Given the description of an element on the screen output the (x, y) to click on. 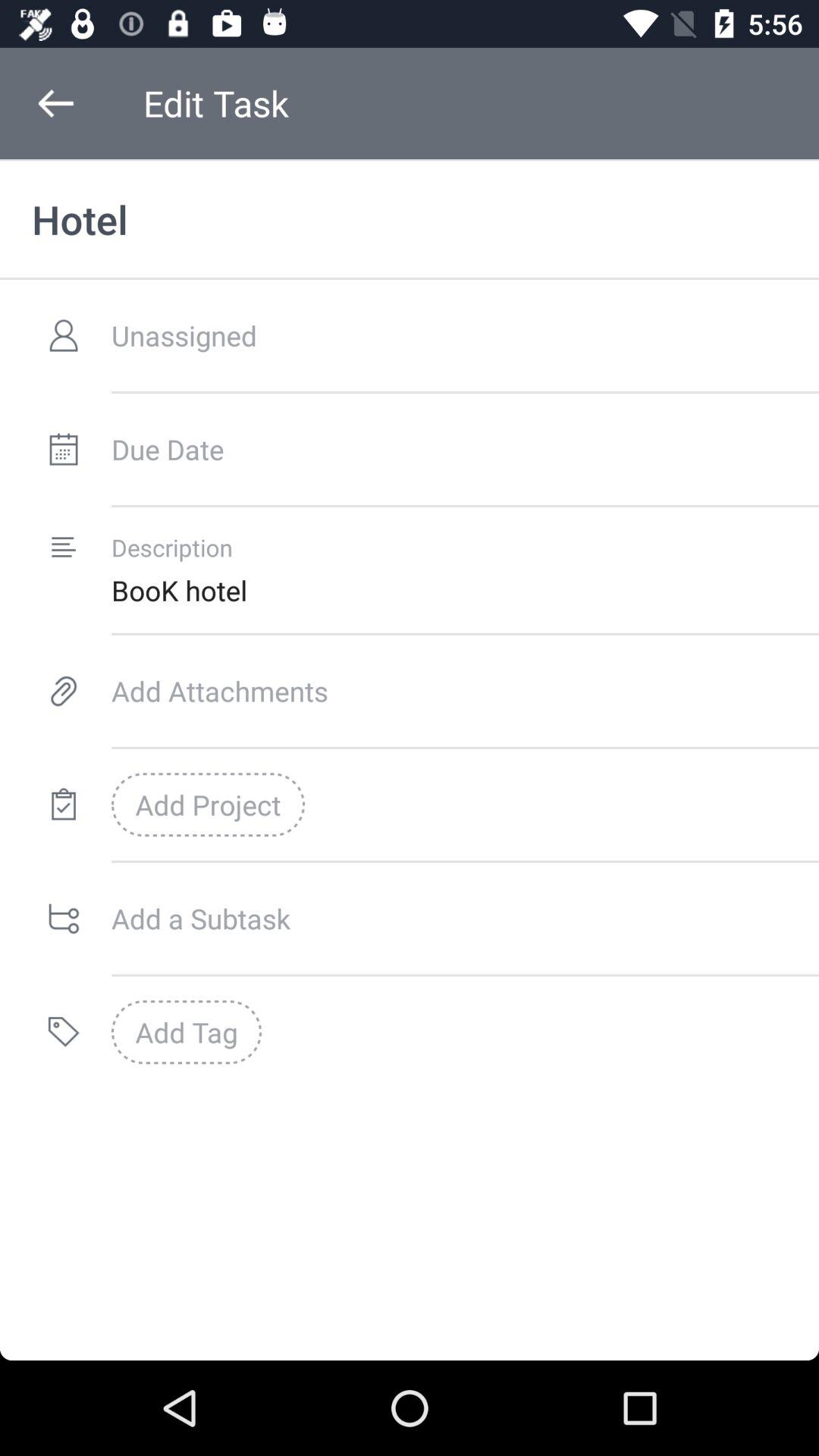
add subtask (465, 918)
